Given the description of an element on the screen output the (x, y) to click on. 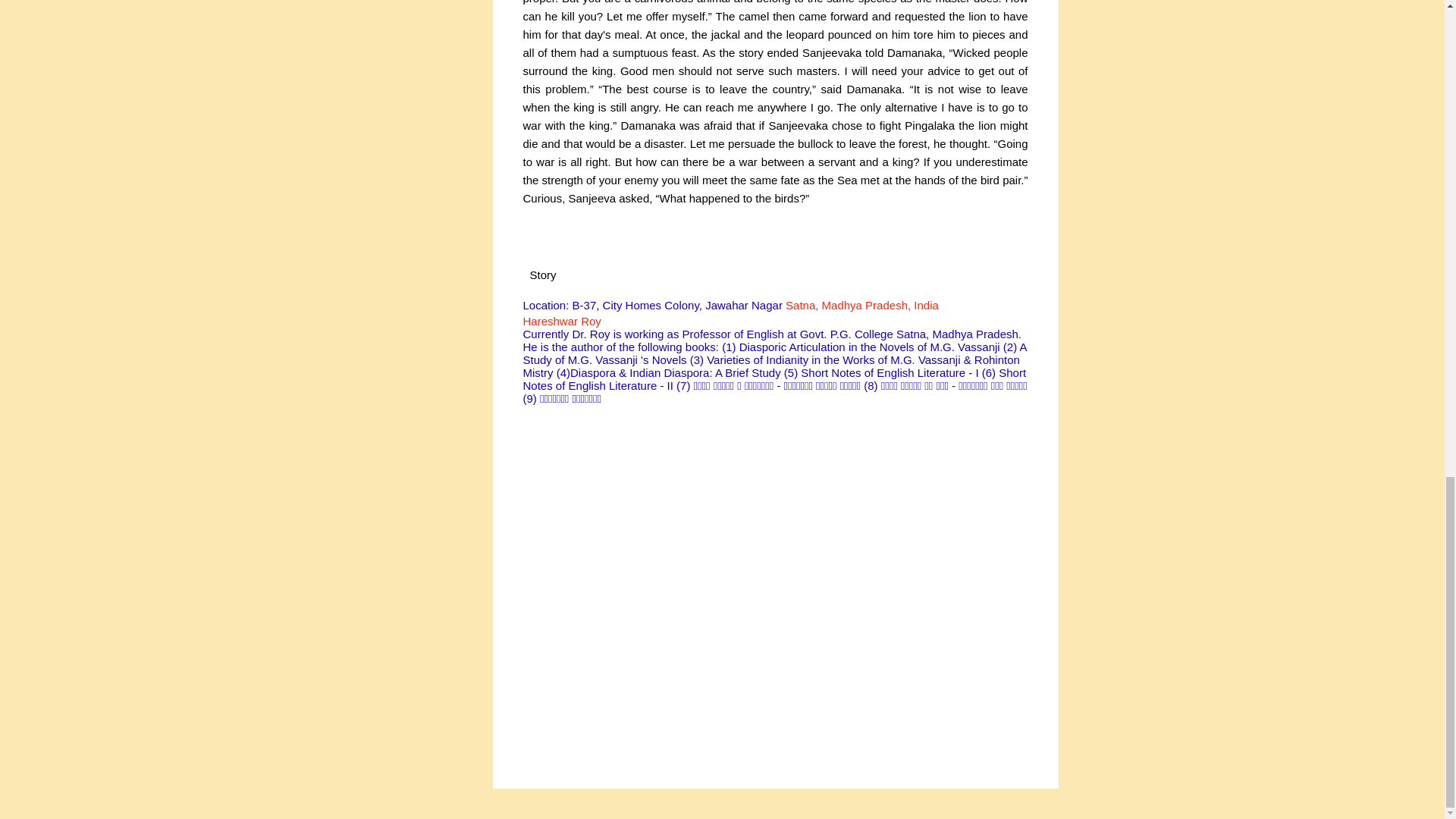
author profile (561, 320)
Email Post (589, 273)
Story (542, 274)
Hareshwar Roy (561, 320)
Satna, Madhya Pradesh, India (862, 304)
